Given the description of an element on the screen output the (x, y) to click on. 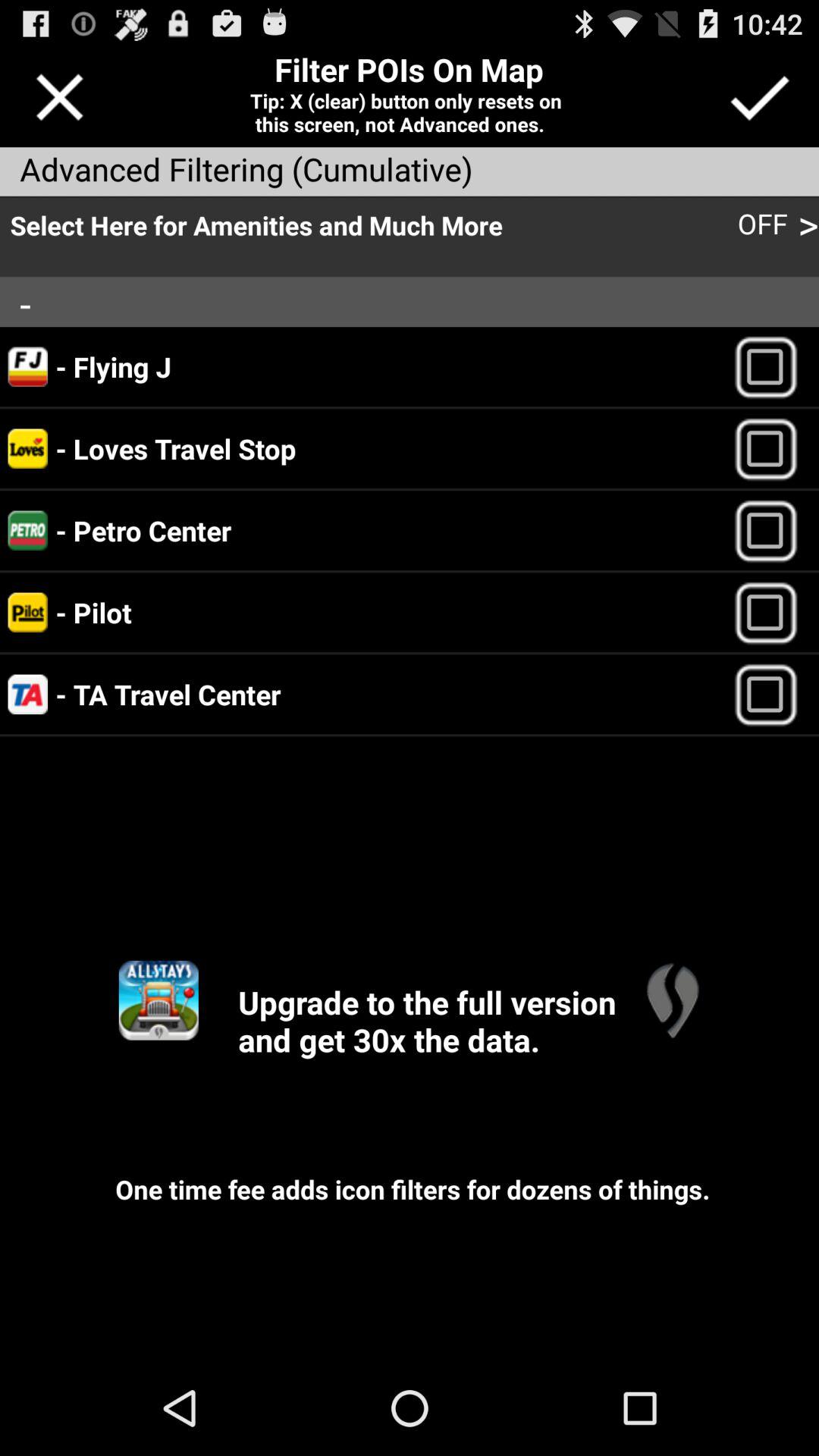
select option (772, 612)
